Given the description of an element on the screen output the (x, y) to click on. 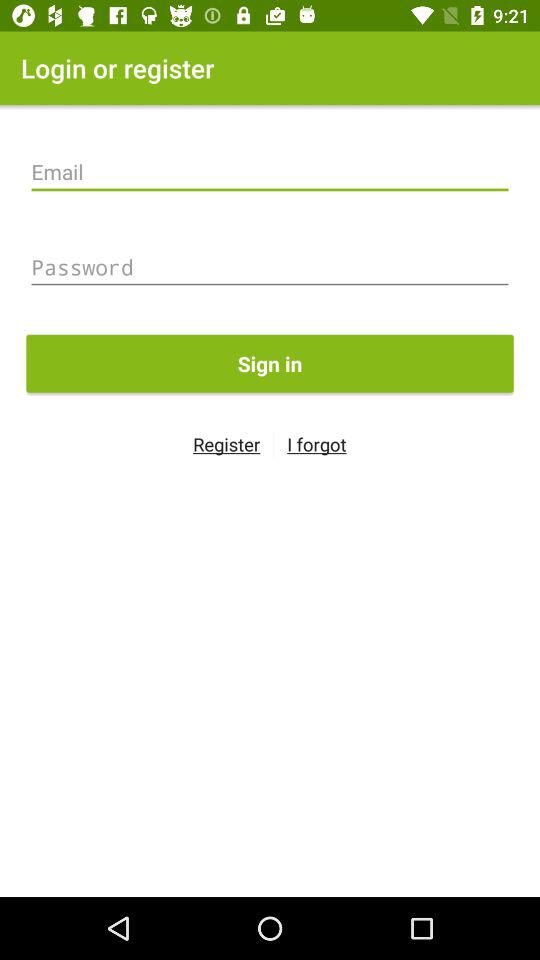
enter email in the box (269, 172)
